Given the description of an element on the screen output the (x, y) to click on. 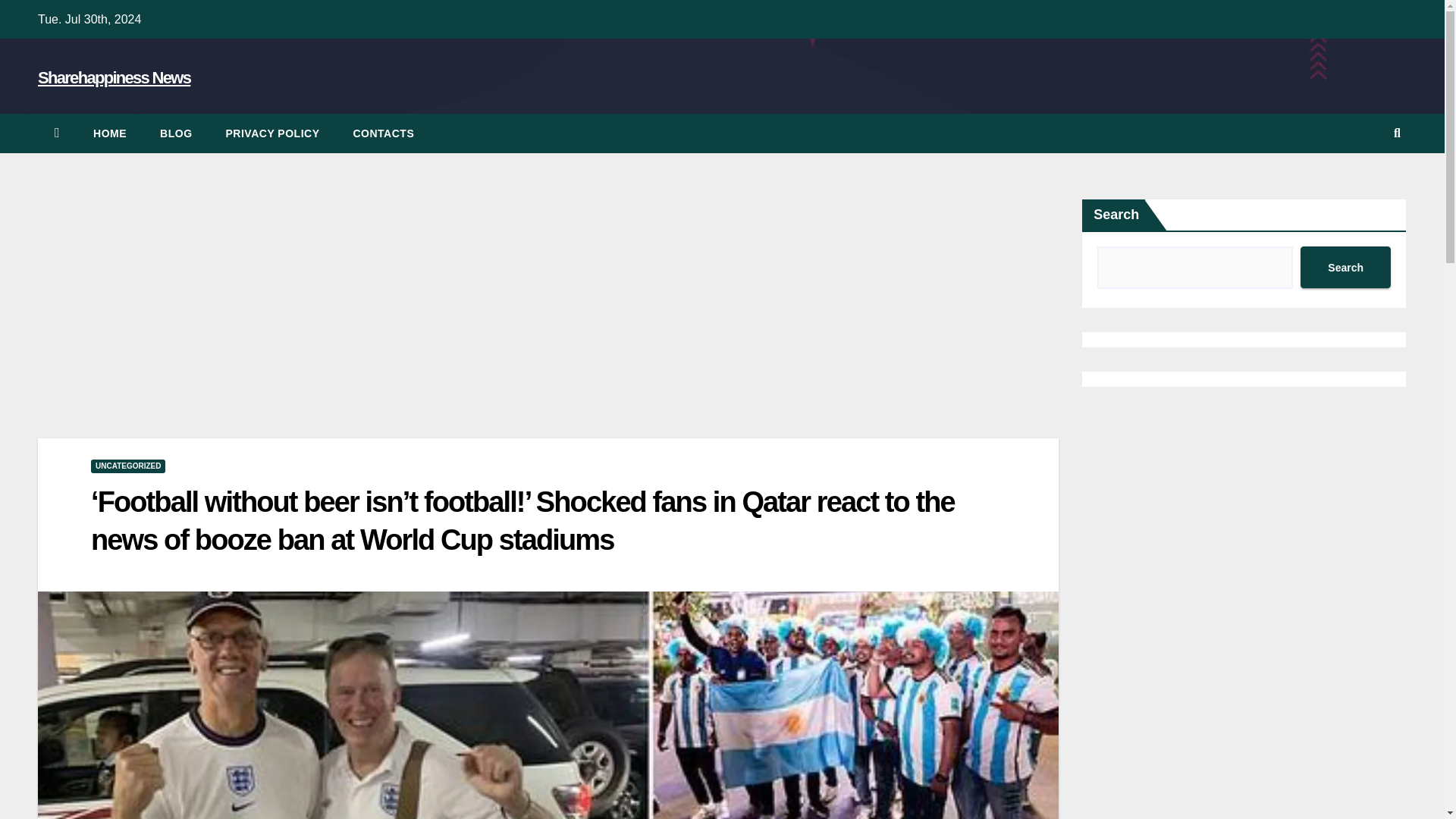
Home (109, 133)
Search (1345, 267)
PRIVACY POLICY (272, 133)
Privacy Policy (272, 133)
Blog (175, 133)
UNCATEGORIZED (127, 466)
HOME (109, 133)
Sharehappiness News (113, 76)
BLOG (175, 133)
Contacts (383, 133)
CONTACTS (383, 133)
